Given the description of an element on the screen output the (x, y) to click on. 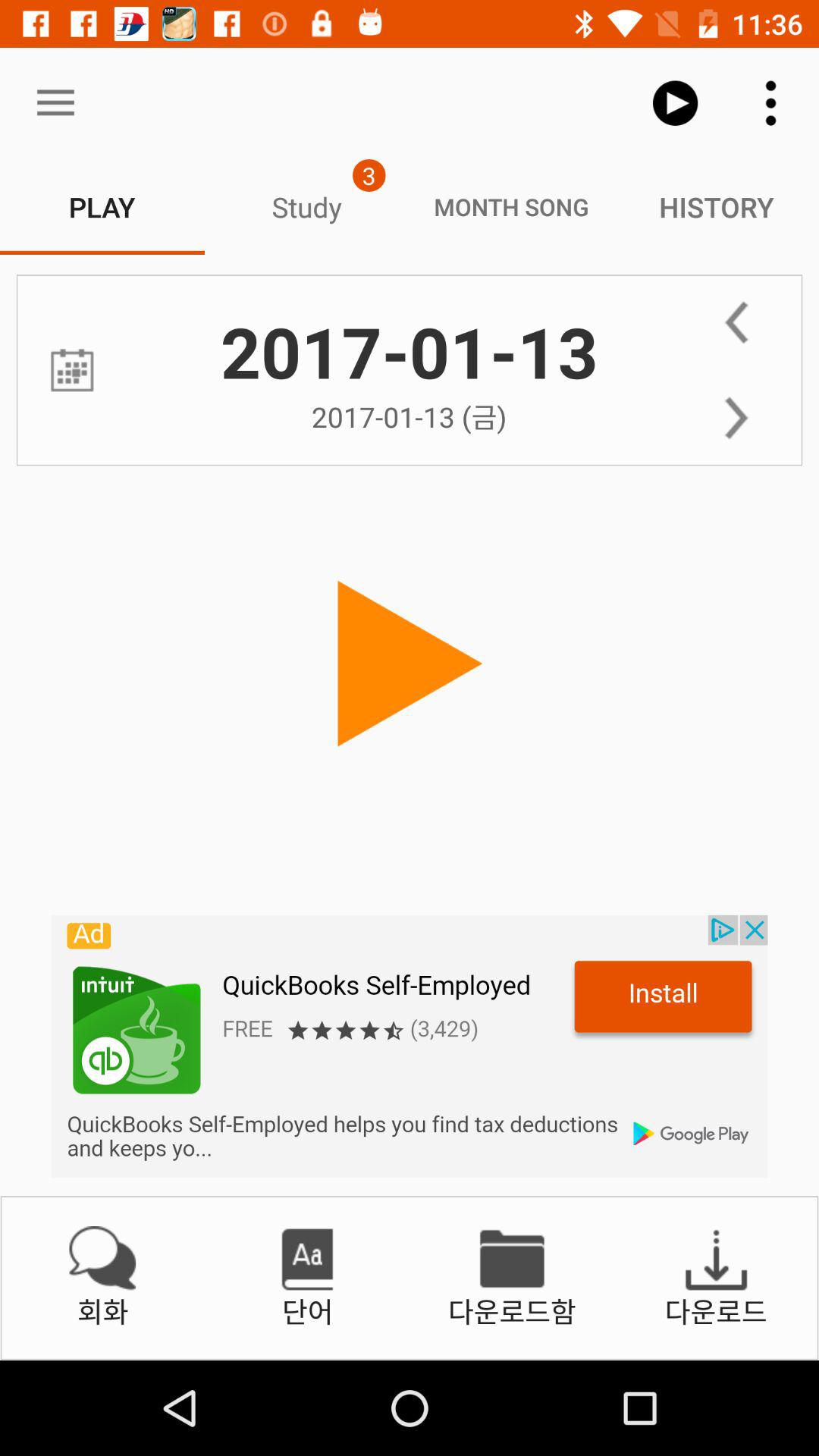
back word (736, 322)
